Given the description of an element on the screen output the (x, y) to click on. 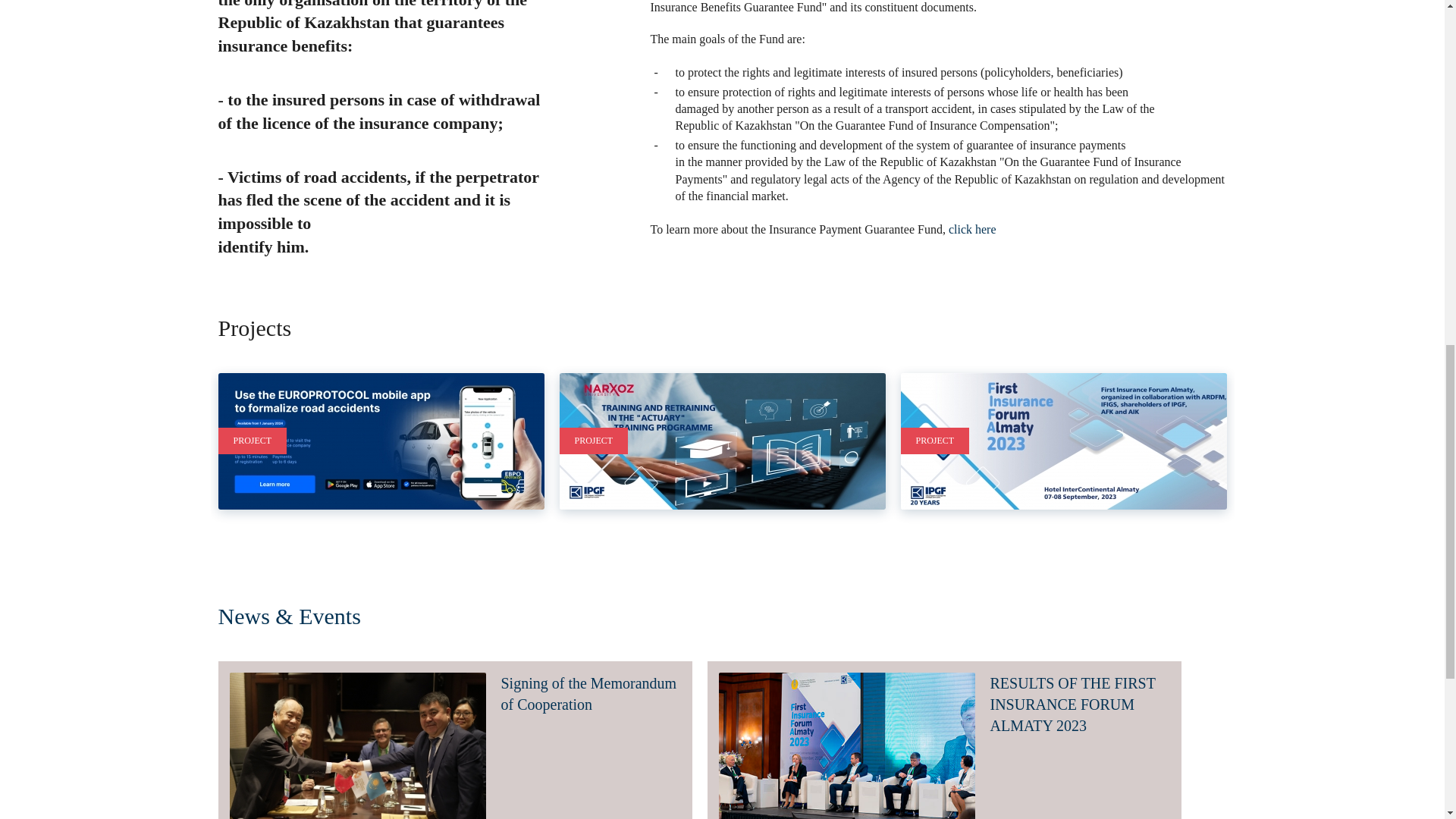
click here (972, 228)
